Given the description of an element on the screen output the (x, y) to click on. 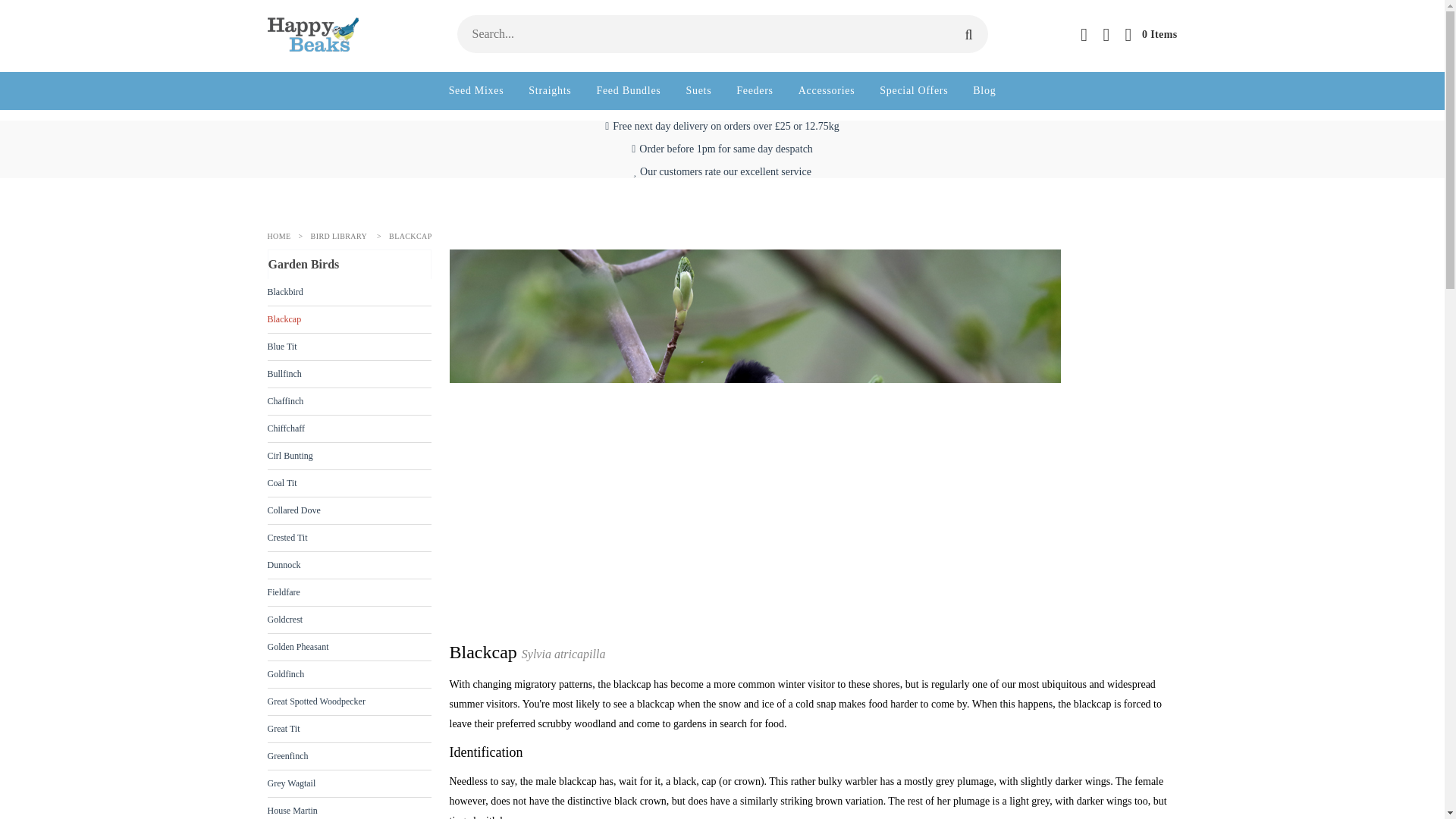
Suets (698, 90)
Seed Mixes (476, 90)
Feed Bundles (628, 90)
Feeders (754, 90)
Straights (549, 90)
Accessories (826, 90)
